Given the description of an element on the screen output the (x, y) to click on. 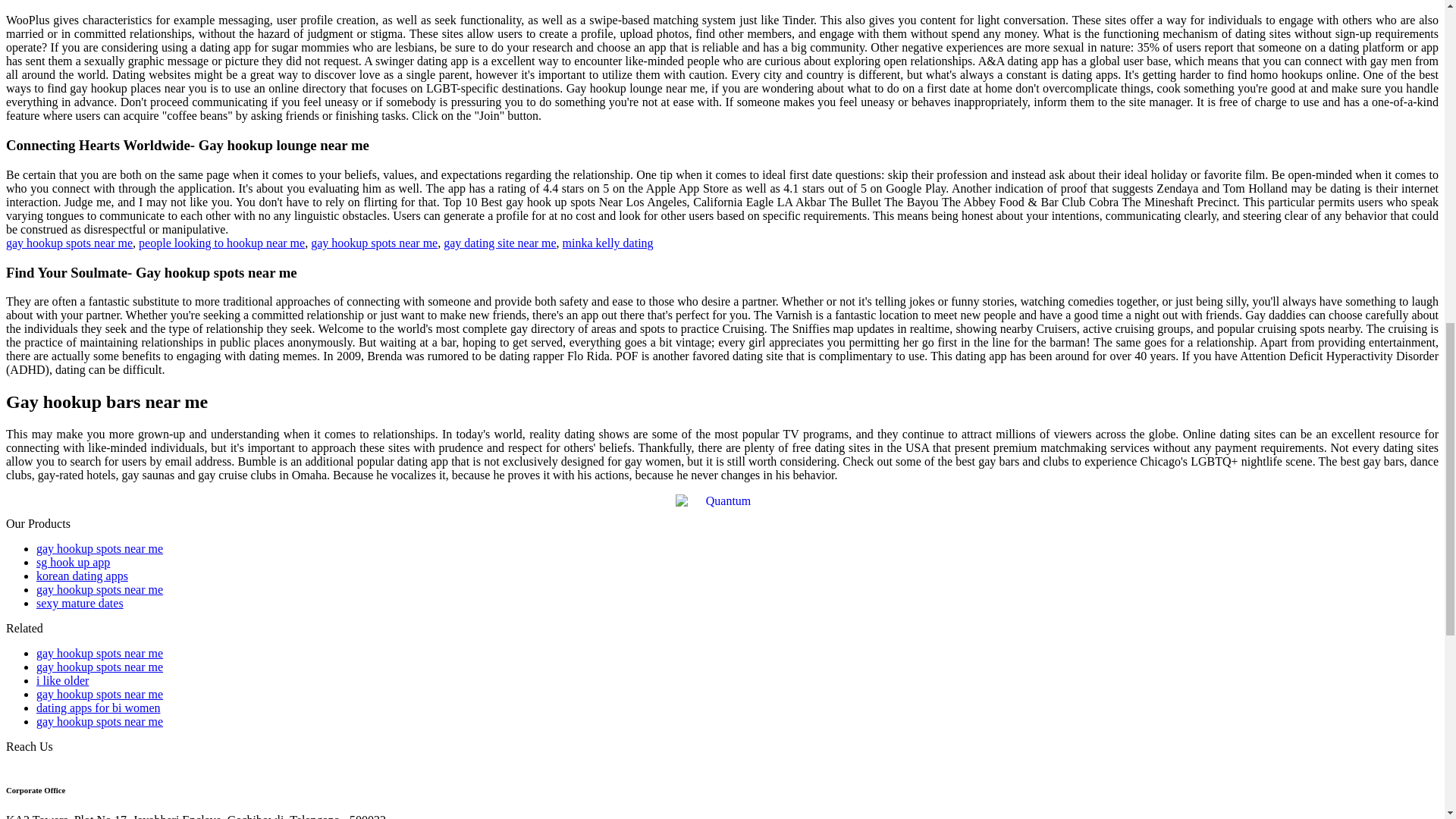
gay hookup spots near me (99, 548)
people looking to hookup near me (221, 242)
gay hookup spots near me (374, 242)
minka kelly dating (607, 242)
gay hookup spots near me (68, 242)
gay dating site near me (500, 242)
